Given the description of an element on the screen output the (x, y) to click on. 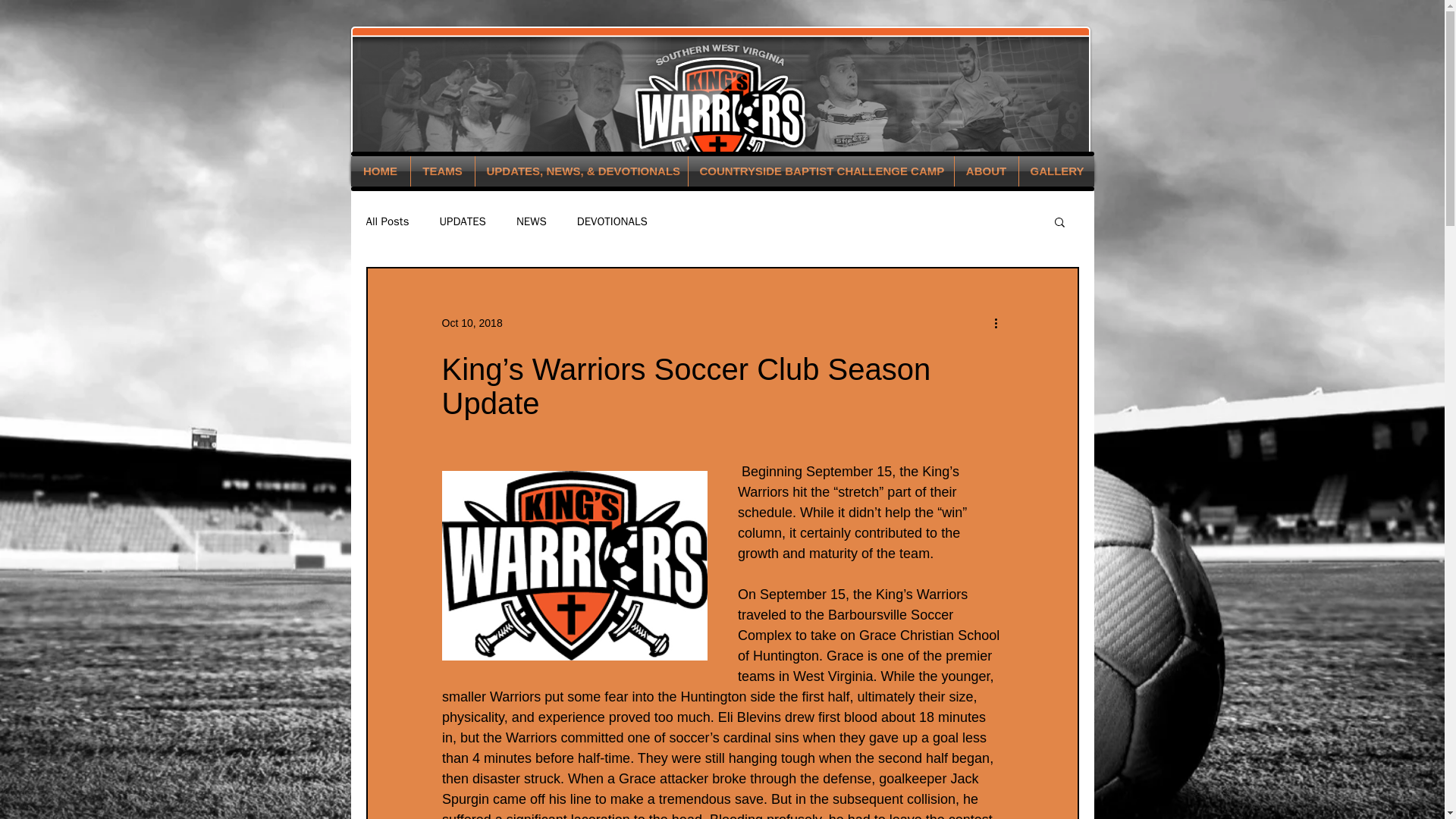
Oct 10, 2018 (471, 322)
GALLERY (1056, 171)
UPDATES (461, 220)
COUNTRYSIDE BAPTIST CHALLENGE CAMP (820, 171)
All Posts (387, 220)
DEVOTIONALS (611, 220)
NEWS (531, 220)
HOME (379, 171)
ABOUT (985, 171)
